Given the description of an element on the screen output the (x, y) to click on. 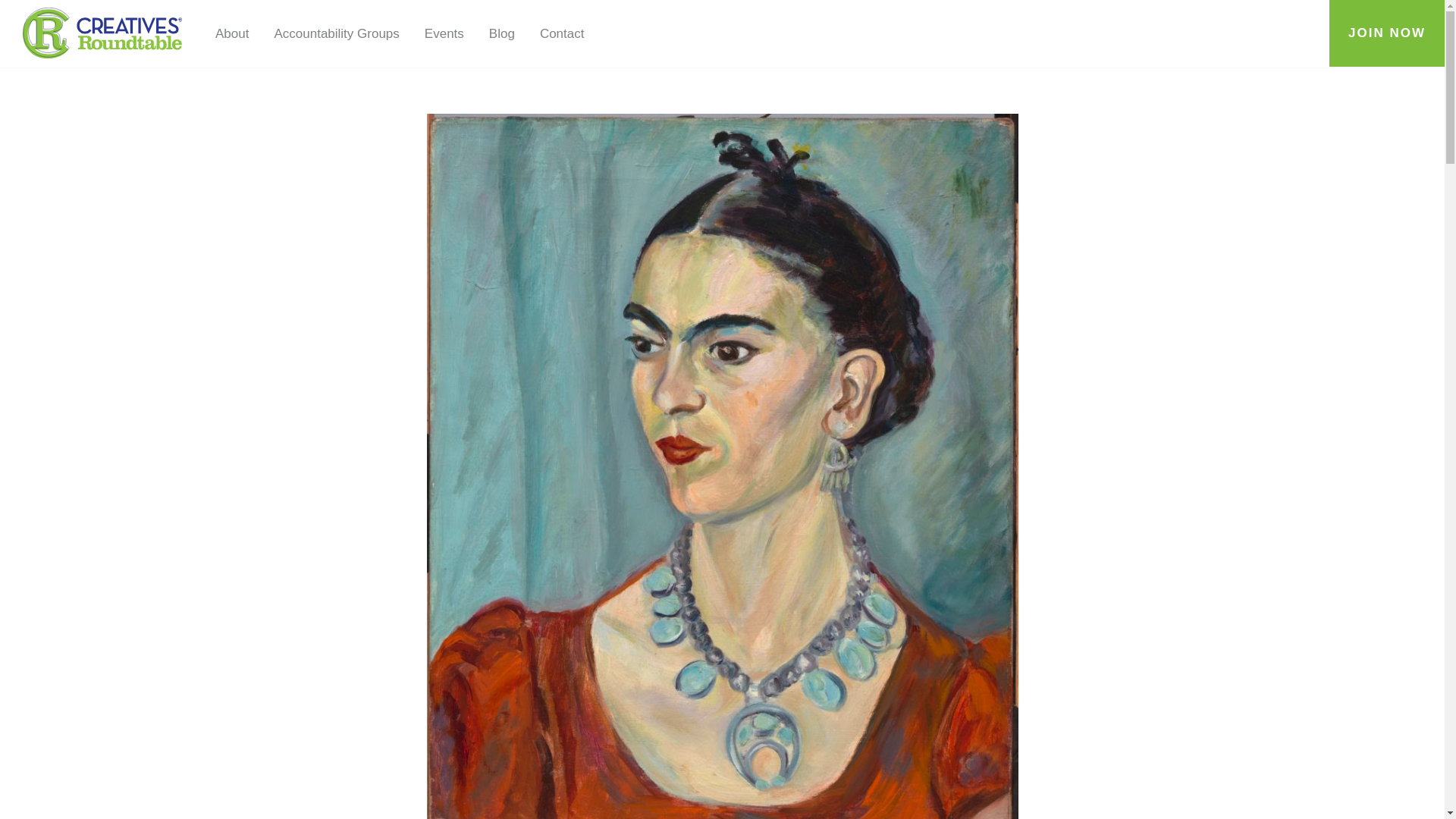
Events (443, 33)
Contact (562, 33)
Accountability Groups (336, 33)
Creatives Roundtable (102, 32)
